Given the description of an element on the screen output the (x, y) to click on. 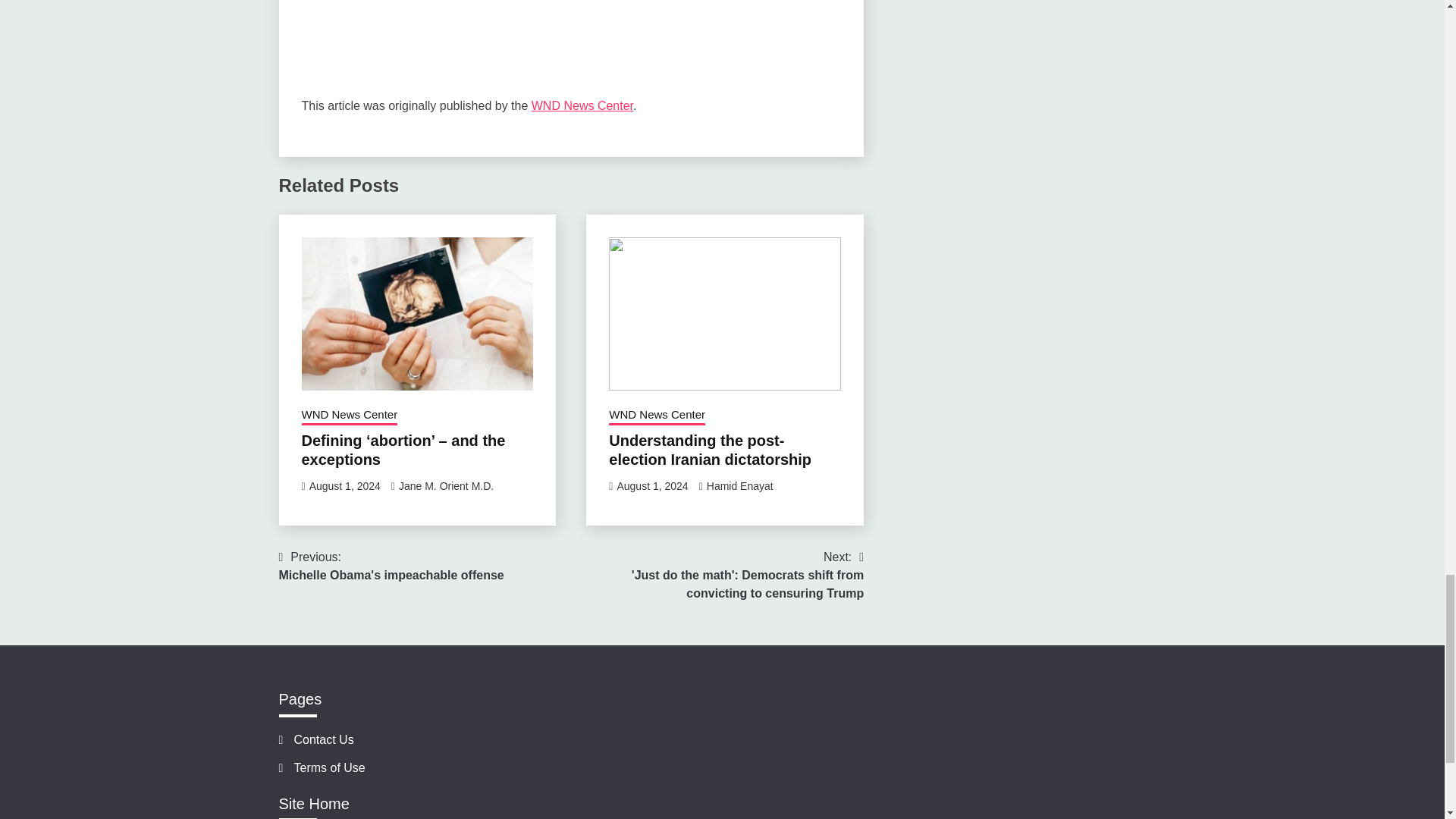
WND News Center (582, 105)
WND News Center (349, 415)
August 1, 2024 (344, 485)
Hamid Enayat (739, 485)
Jane M. Orient M.D. (445, 485)
Understanding the post-election Iranian dictatorship (391, 565)
WND News Center (709, 449)
August 1, 2024 (656, 415)
